Given the description of an element on the screen output the (x, y) to click on. 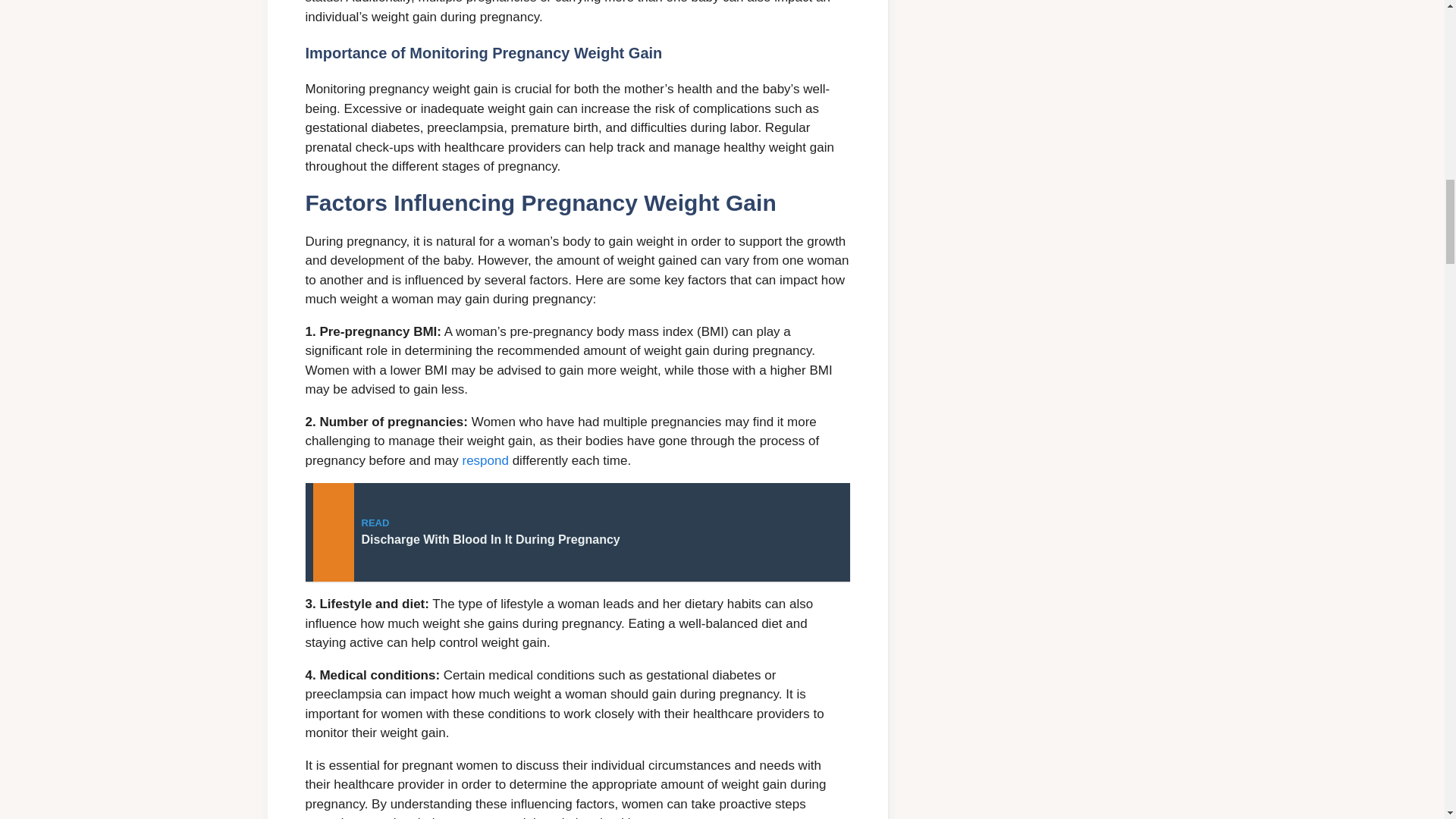
respond (484, 460)
